Given the description of an element on the screen output the (x, y) to click on. 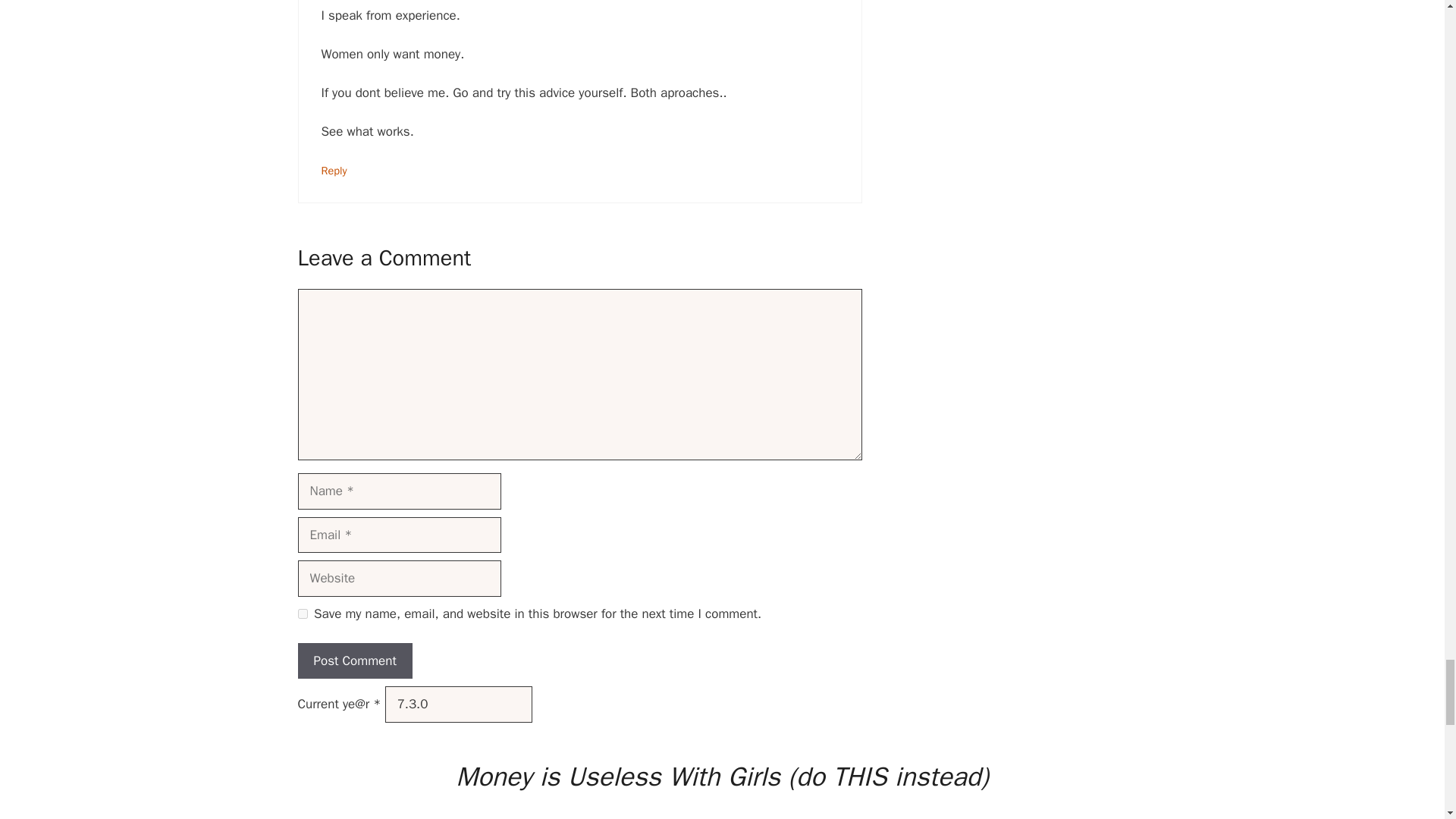
Post Comment (354, 660)
yes (302, 614)
7.3.0 (458, 704)
